Given the description of an element on the screen output the (x, y) to click on. 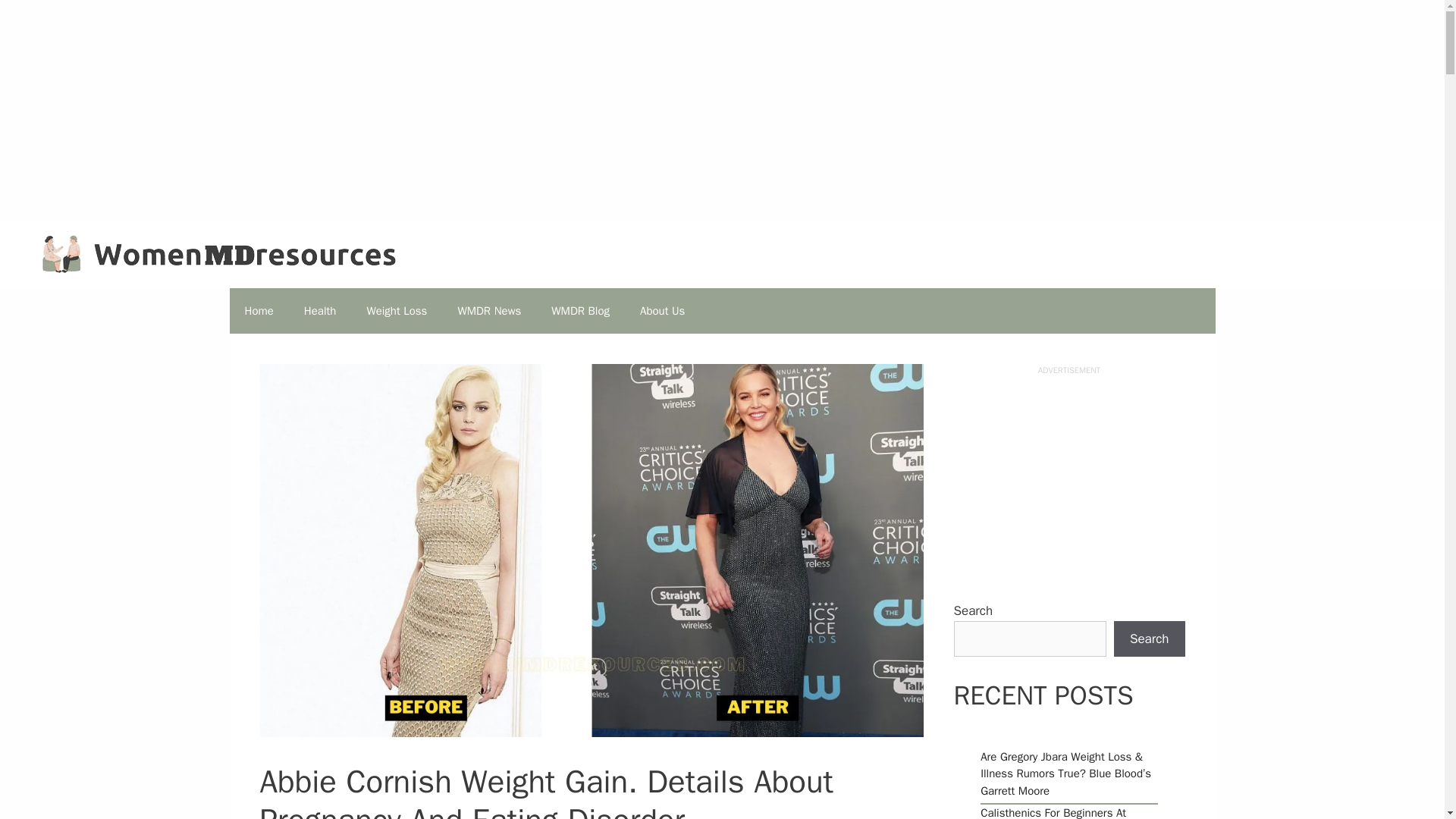
Health (320, 310)
About Us (662, 310)
Home (258, 310)
WMDR Blog (579, 310)
Weight Loss (396, 310)
WMDR News (488, 310)
